Given the description of an element on the screen output the (x, y) to click on. 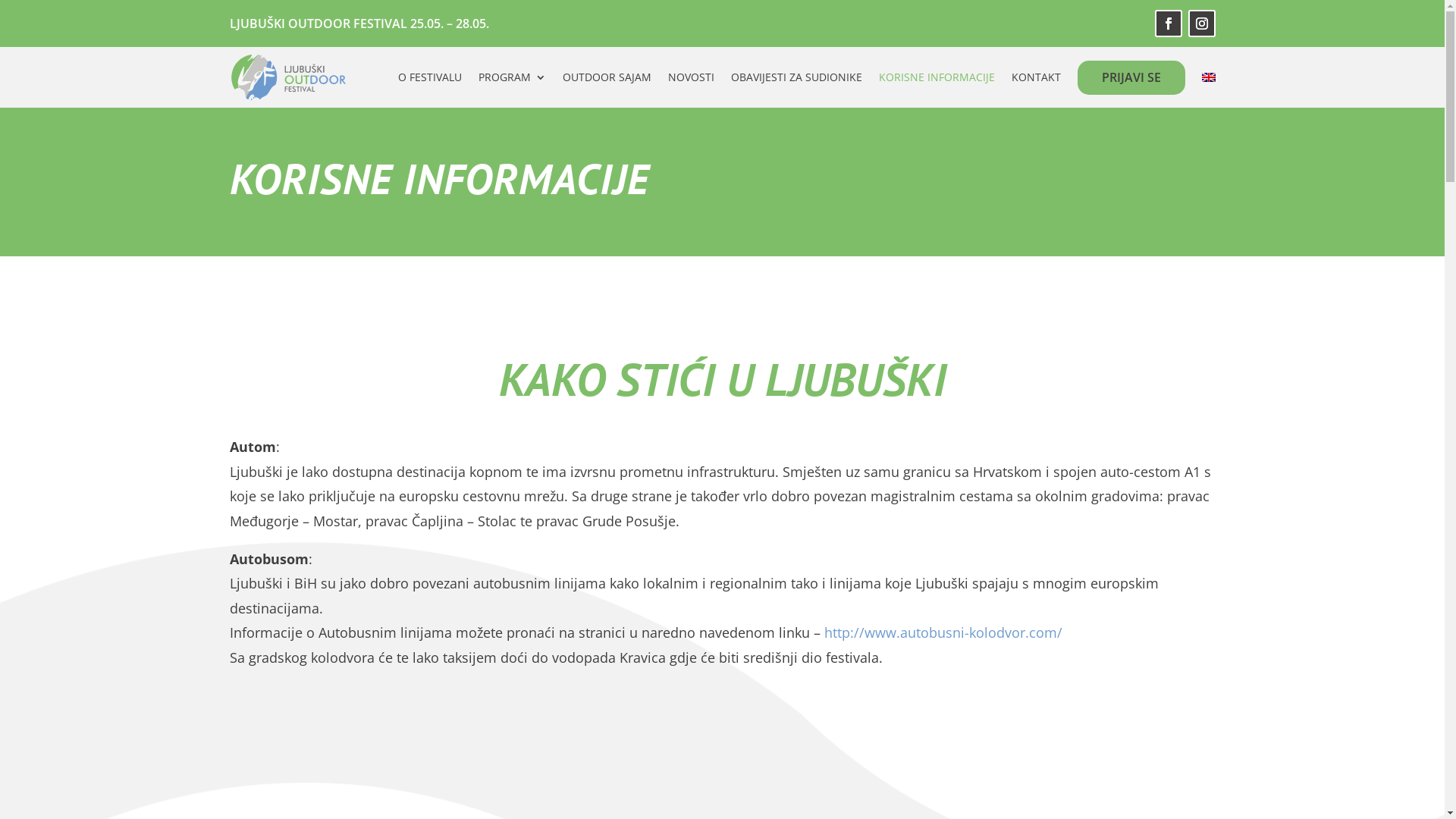
KONTAKT Element type: text (1035, 77)
PROGRAM Element type: text (511, 77)
OBAVIJESTI ZA SUDIONIKE Element type: text (796, 77)
Follow on Instagram Element type: hover (1200, 23)
PRIJAVI SE Element type: text (1130, 77)
NOVOSTI Element type: text (690, 77)
O FESTIVALU Element type: text (429, 77)
OUTDOOR SAJAM Element type: text (606, 77)
KORISNE INFORMACIJE Element type: text (936, 77)
Follow on Facebook Element type: hover (1167, 23)
http://www.autobusni-kolodvor.com/ Element type: text (942, 632)
